Given the description of an element on the screen output the (x, y) to click on. 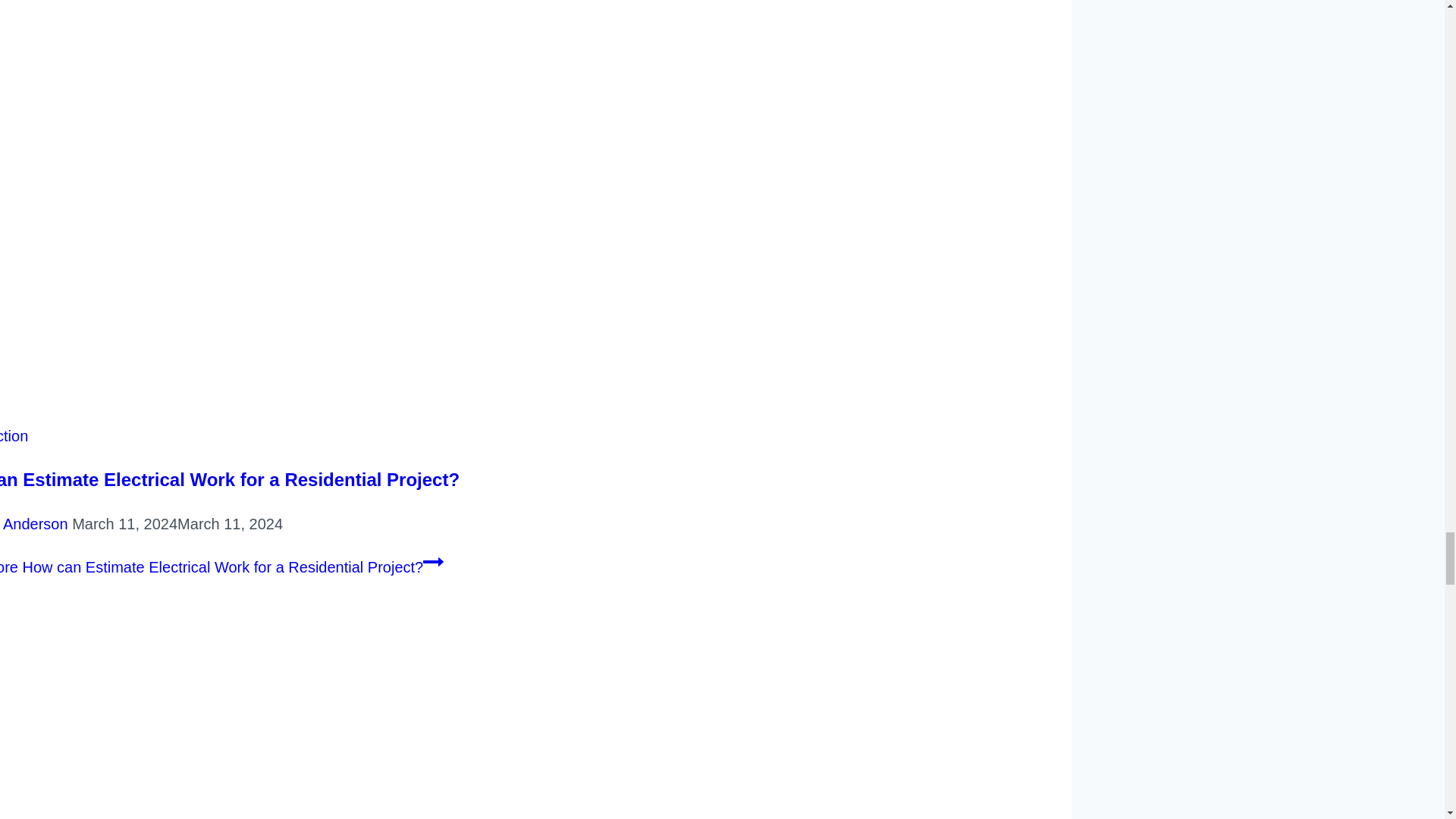
Construction (13, 435)
How can Estimate Electrical Work for a Residential Project? (230, 479)
Continue (433, 561)
Steve Anderson (33, 523)
